Given the description of an element on the screen output the (x, y) to click on. 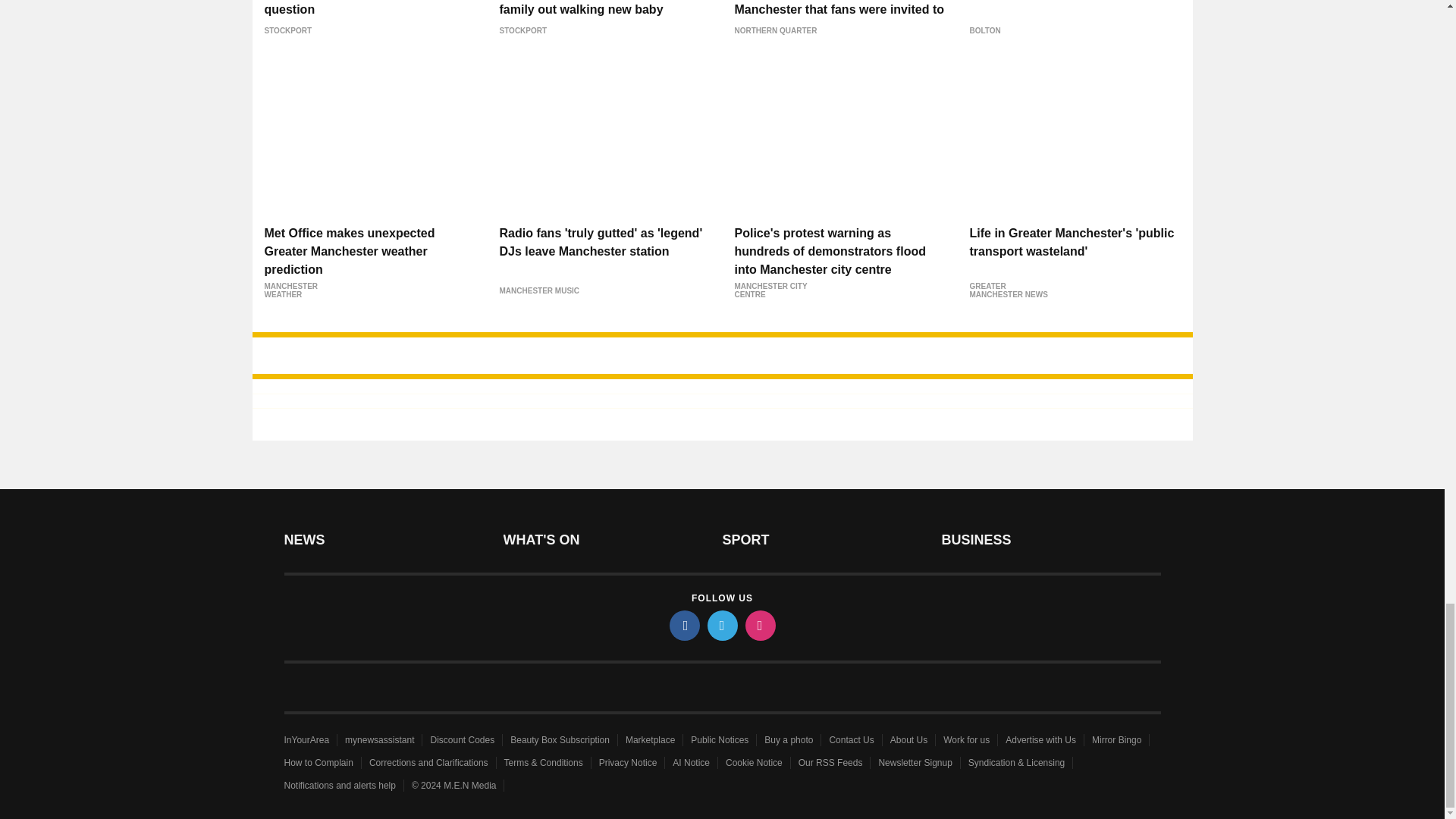
twitter (721, 625)
facebook (683, 625)
instagram (759, 625)
